Given the description of an element on the screen output the (x, y) to click on. 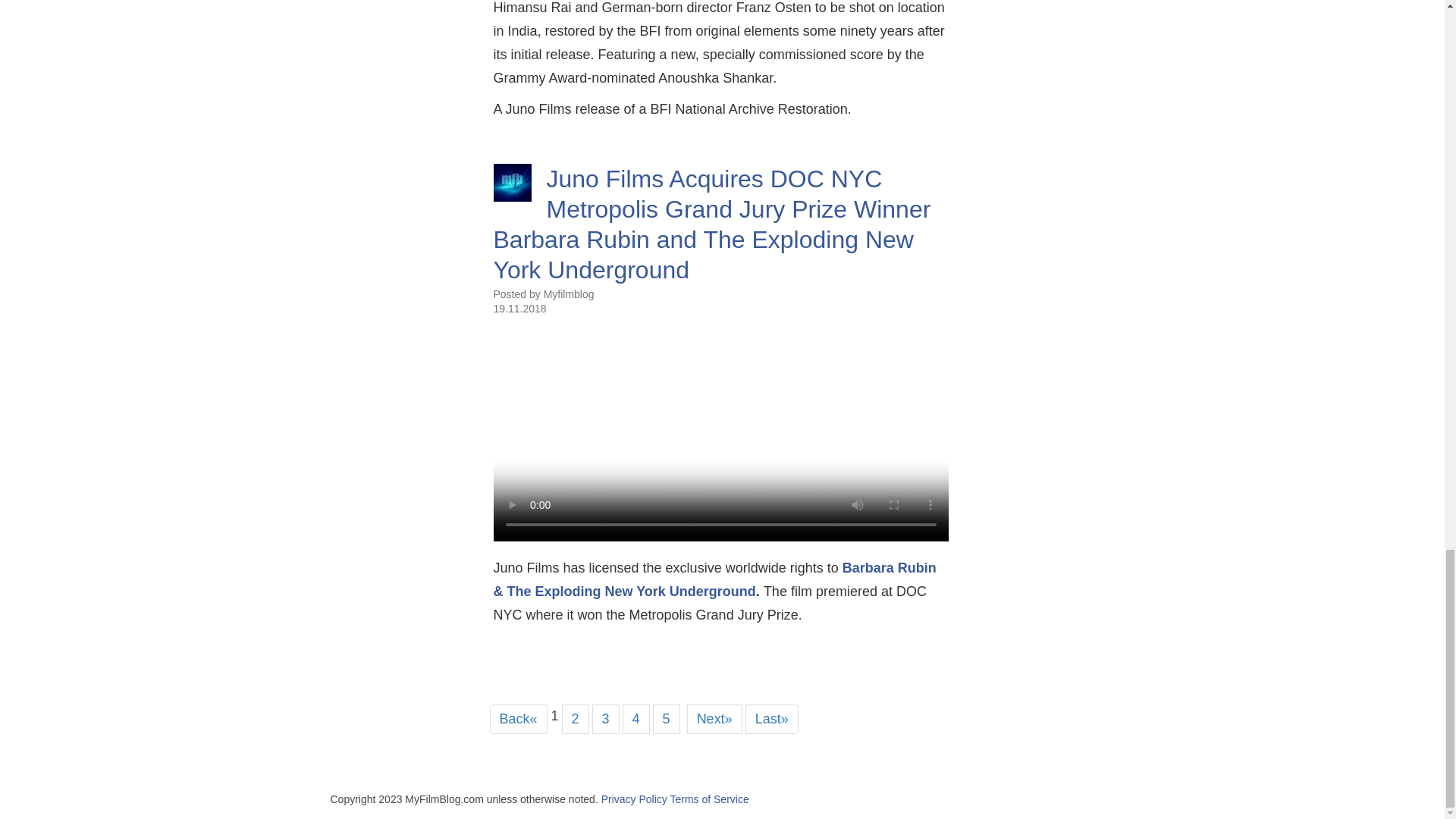
Terms of Use (708, 799)
4 (636, 719)
Terms of Service (708, 799)
Privacy Policy (633, 799)
3 (606, 719)
2 (575, 719)
5 (665, 719)
Privacy Policy (633, 799)
